Given the description of an element on the screen output the (x, y) to click on. 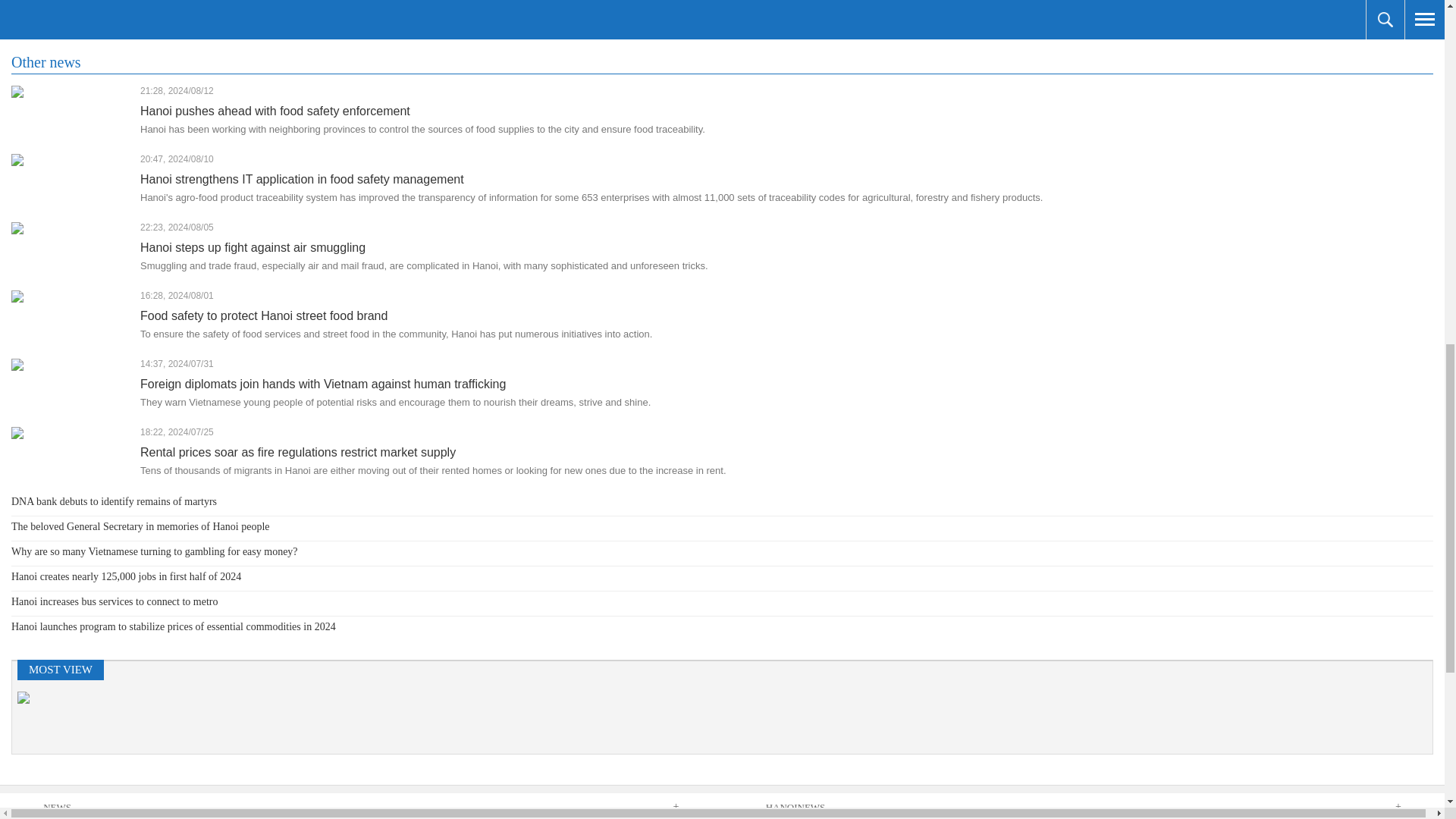
Comments (44, 20)
Other news (46, 62)
